Given the description of an element on the screen output the (x, y) to click on. 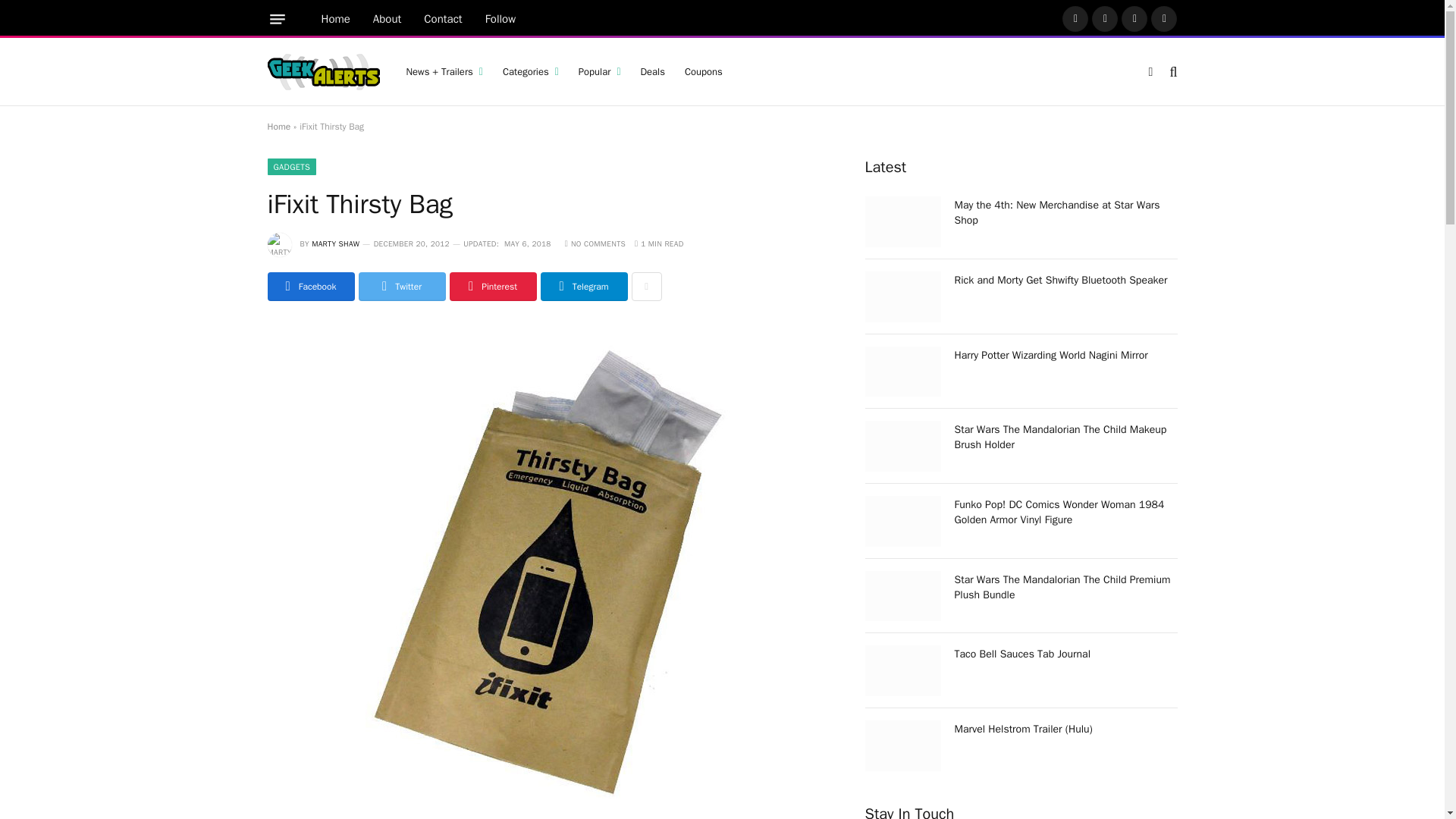
Facebook (1074, 18)
Categories (531, 71)
Contact (442, 19)
Share on Facebook (309, 286)
GeekAlerts (322, 71)
RSS (1163, 18)
Share on Telegram (583, 286)
Follow (500, 19)
Posts by Marty Shaw (335, 243)
Share on Pinterest (491, 286)
